Given the description of an element on the screen output the (x, y) to click on. 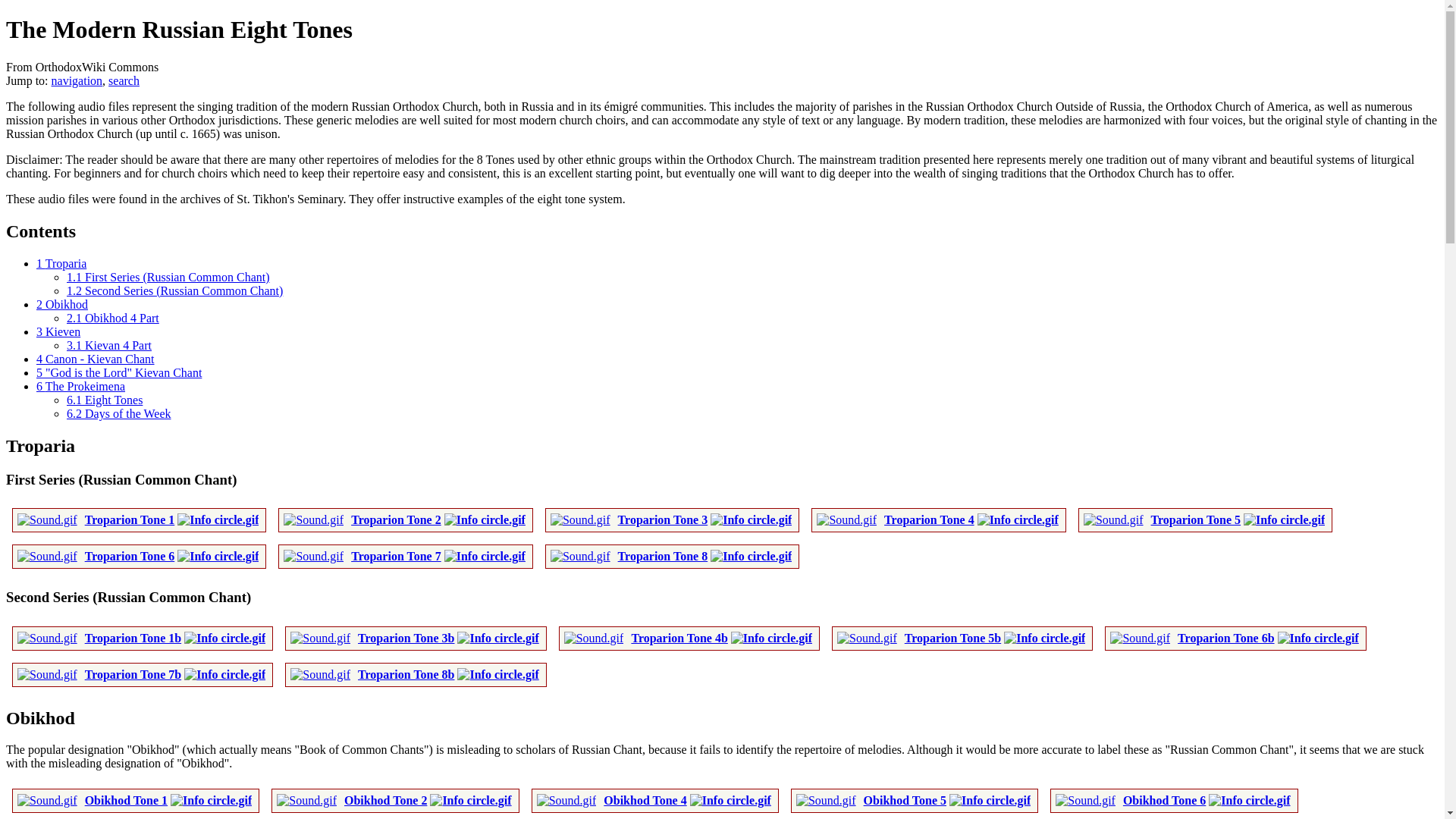
TroparTone1.mp3 (129, 519)
5 "God is the Lord" Kievan Chant (119, 372)
TroparTone3b.mp3 (406, 637)
Troparion Tone 5 (1196, 519)
6.1 Eight Tones (104, 399)
TroparTone4.mp3 (928, 519)
TroparTone5b.mp3 (952, 637)
Troparion Tone 6 (129, 555)
Troparion Tone 1 (129, 519)
TroparTone7b.mp3 (132, 674)
3 Kieven (58, 331)
2 Obikhod (61, 304)
6.2 Days of the Week (118, 413)
TroparTone3.mp3 (662, 519)
Troparion Tone 3 (662, 519)
